Given the description of an element on the screen output the (x, y) to click on. 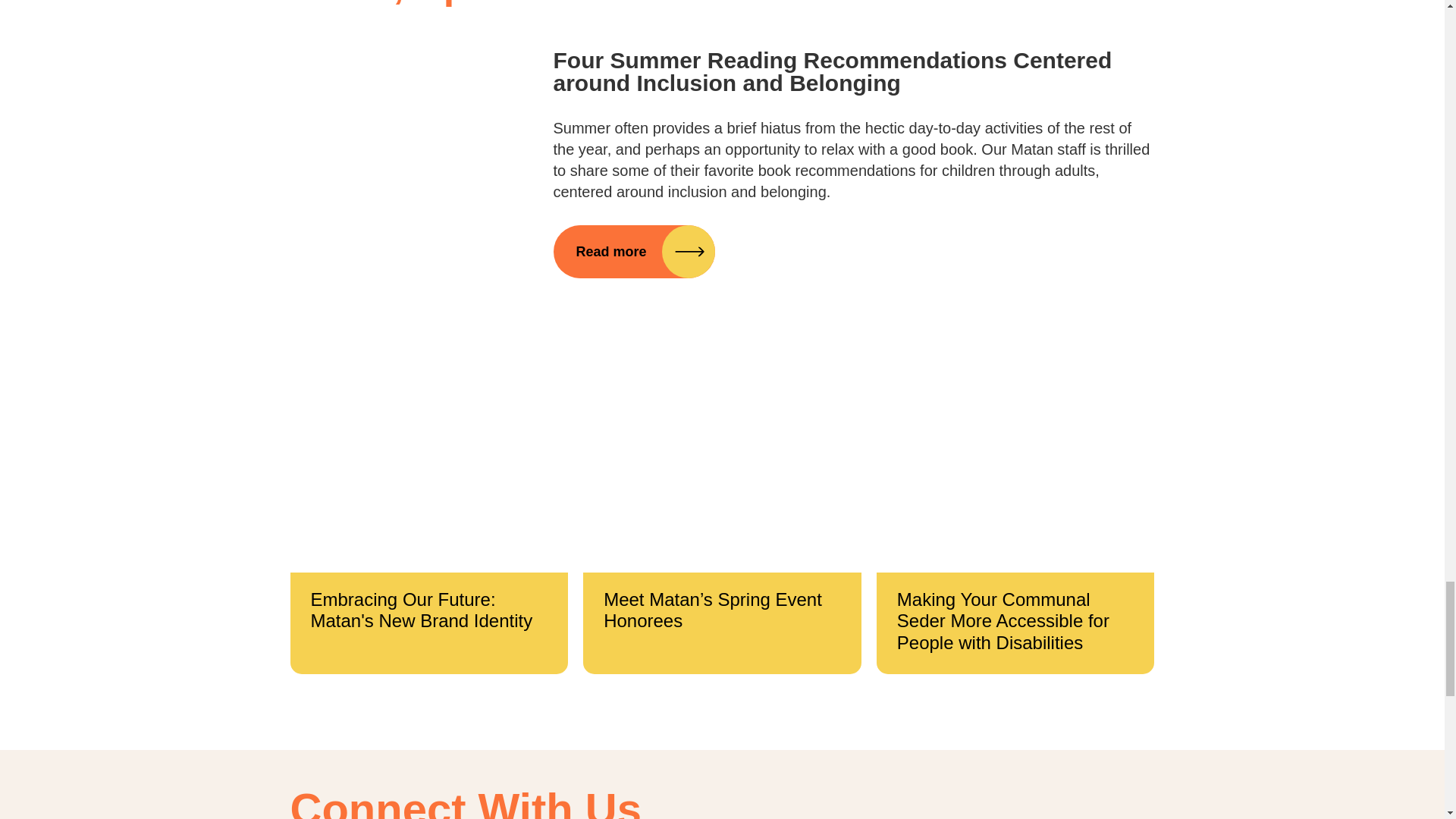
Read more (633, 251)
